Given the description of an element on the screen output the (x, y) to click on. 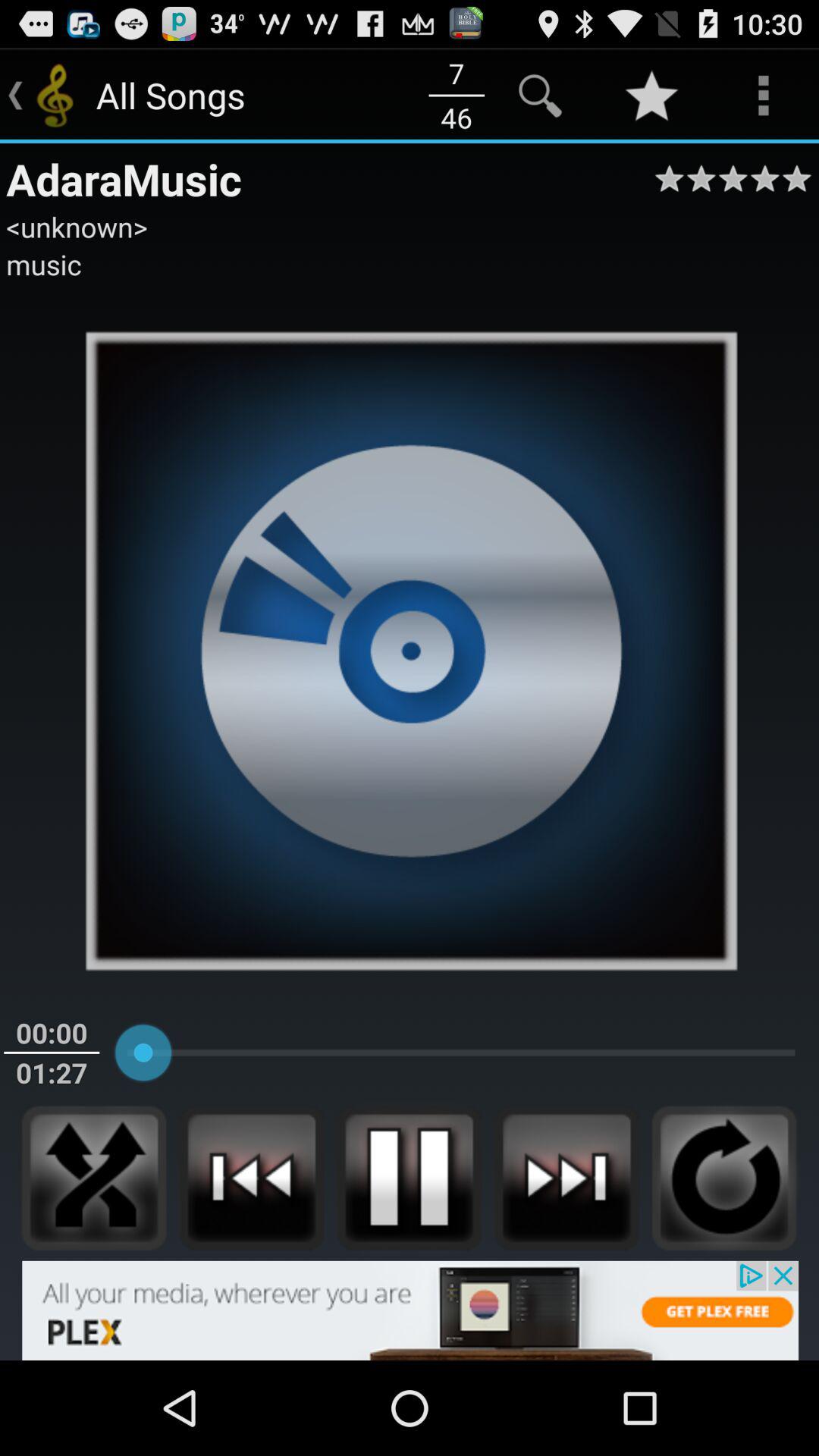
go to music (43, 264)
click on the pause (409, 1178)
click on the frame below music (409, 649)
click on the repeat option (724, 1178)
select the text beside the music icon (290, 95)
click on symbol beside to search symbol (651, 95)
choose the option left side of backward icon (93, 1178)
